Given the description of an element on the screen output the (x, y) to click on. 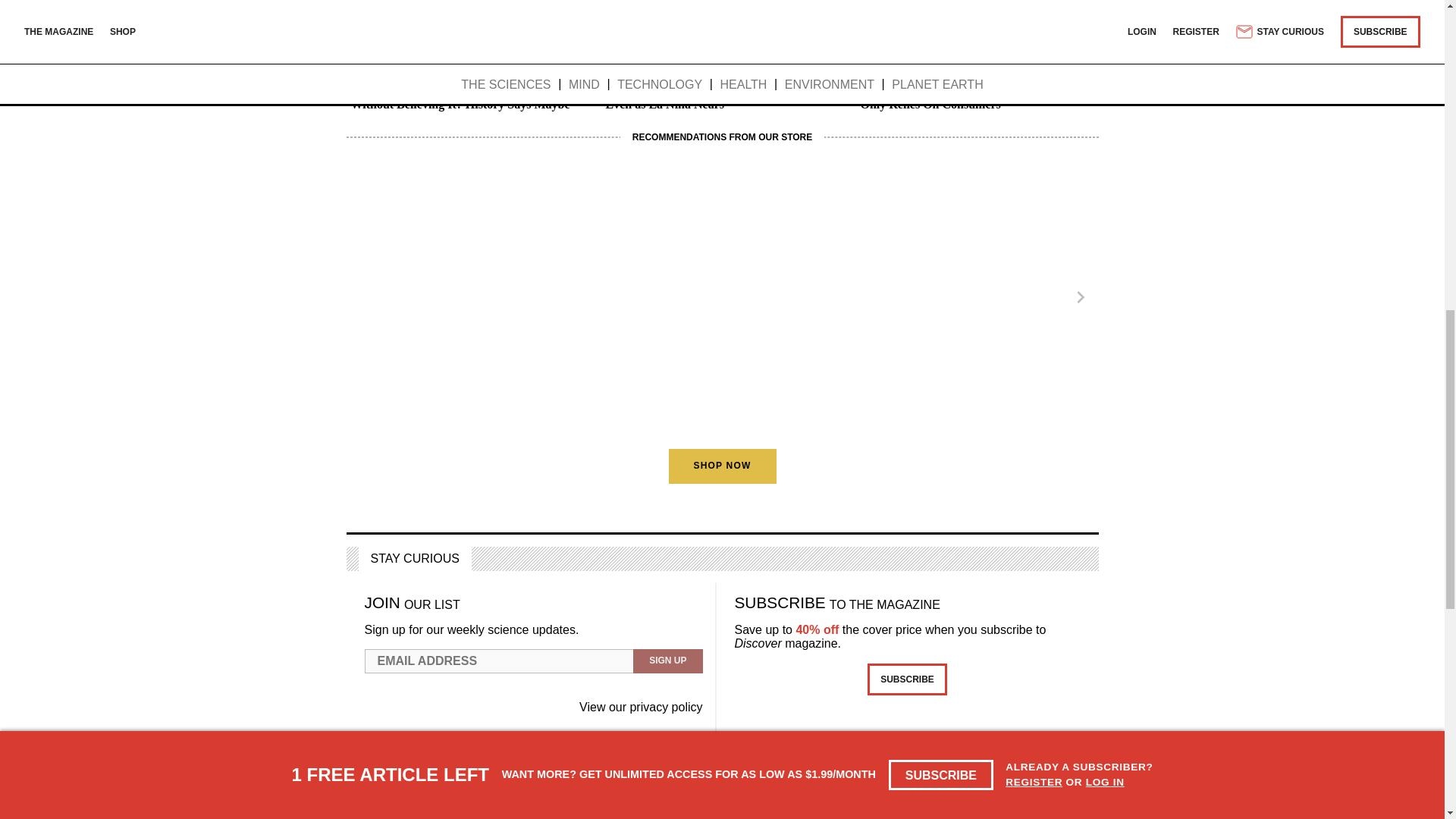
ENVIRONMENT (893, 68)
ENVIRONMENT (638, 68)
ENVIRONMENT (383, 68)
